Given the description of an element on the screen output the (x, y) to click on. 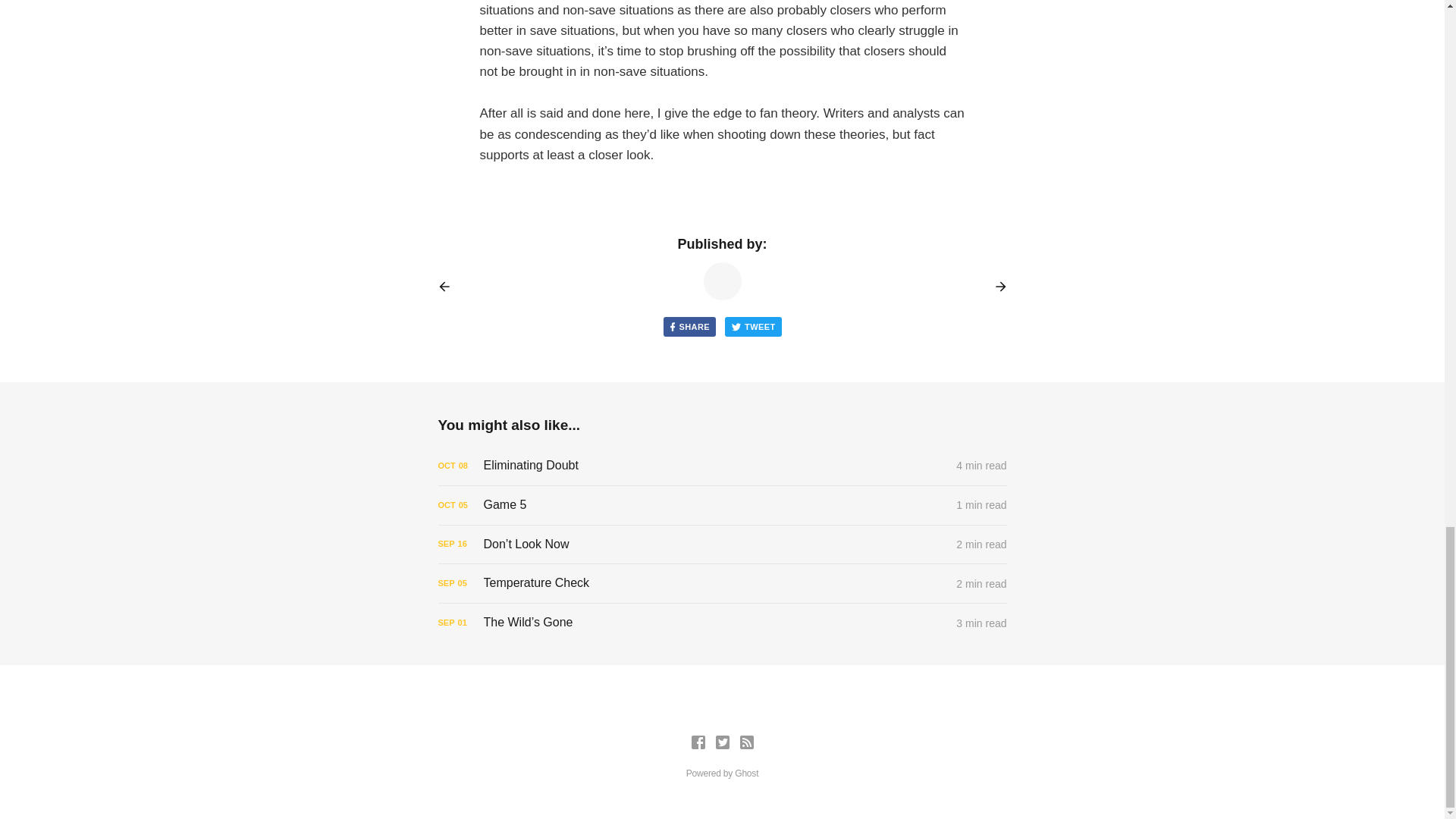
SHARE (689, 326)
Ghost (746, 773)
TWEET (753, 326)
